Given the description of an element on the screen output the (x, y) to click on. 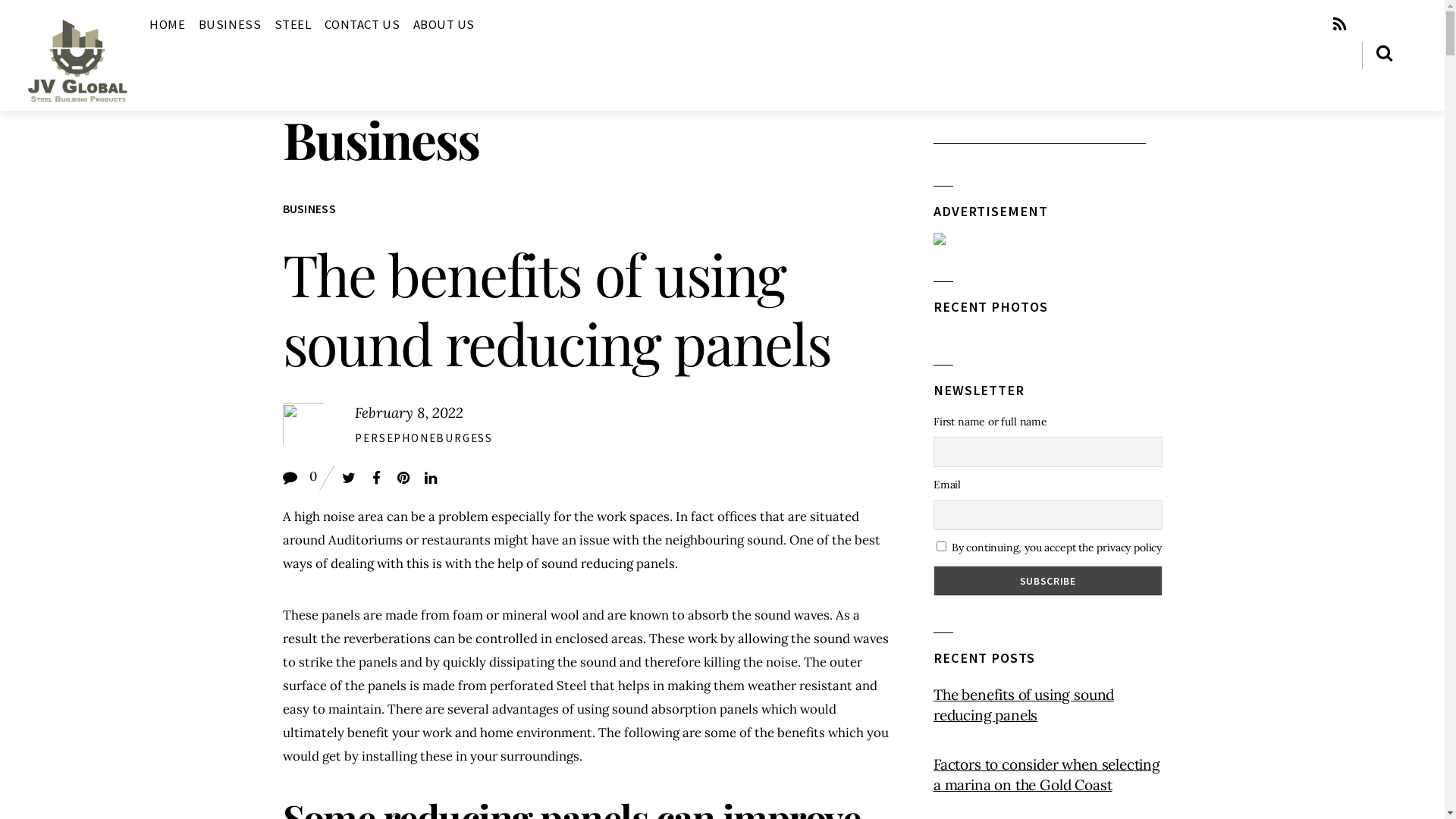
LinkedIn Element type: hover (430, 477)
Search Element type: hover (1039, 130)
BUSINESS Element type: text (229, 24)
JV Global Element type: hover (77, 60)
Subscribe Element type: text (1047, 580)
The benefits of using sound reducing panels Element type: text (556, 307)
Pinterest Element type: hover (403, 477)
ABOUT US Element type: text (443, 24)
JV Global Element type: hover (77, 100)
Twitter Element type: hover (349, 477)
CONTACT US Element type: text (361, 24)
HOME Element type: text (167, 24)
STEEL Element type: text (292, 24)
BUSINESS Element type: text (308, 208)
PERSEPHONEBURGESS Element type: text (423, 437)
Facebook Element type: hover (376, 477)
The benefits of using sound reducing panels Element type: text (1047, 704)
0 Element type: text (309, 475)
